Given the description of an element on the screen output the (x, y) to click on. 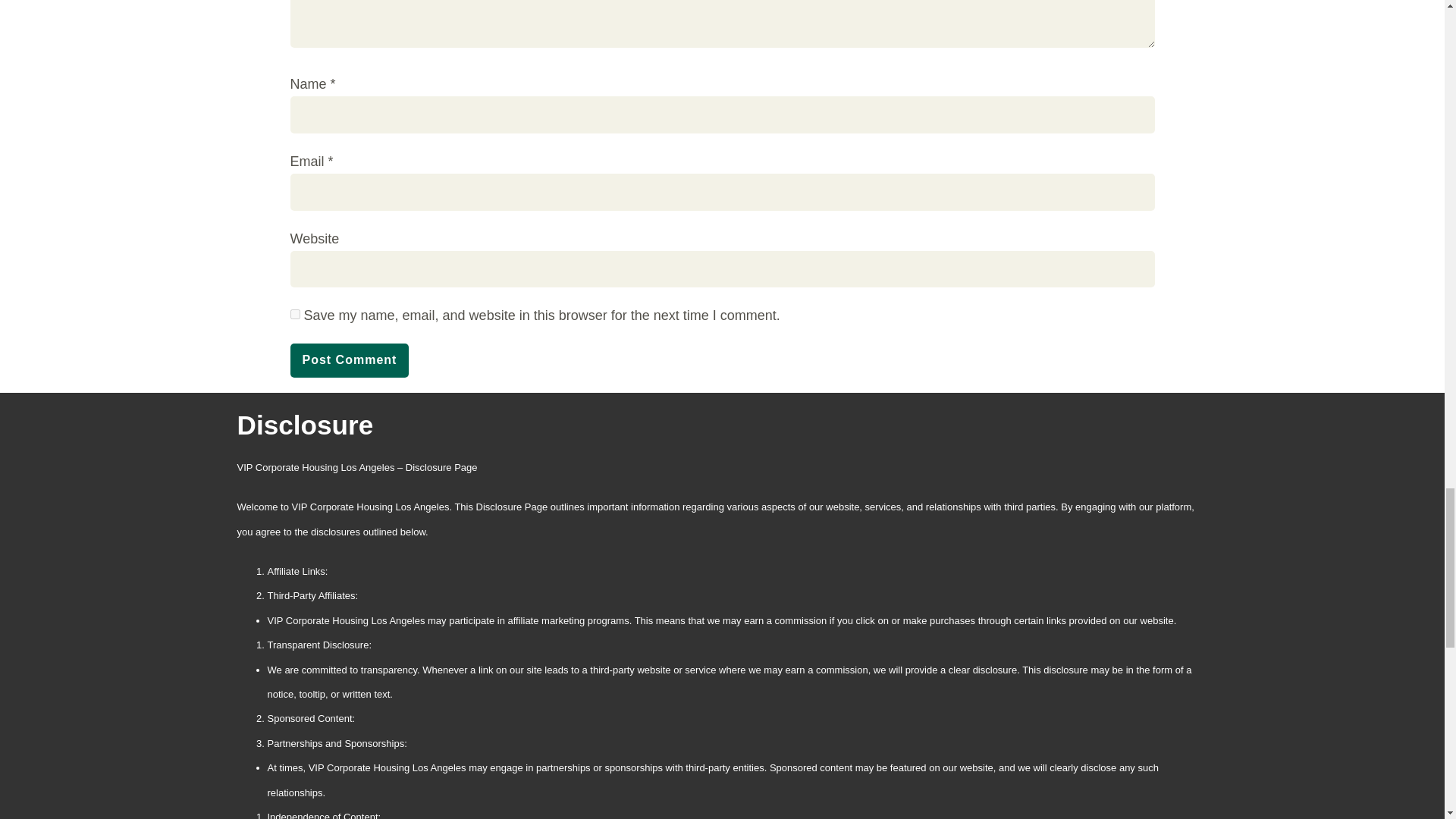
yes (294, 314)
Post Comment (349, 360)
Post Comment (349, 360)
